Given the description of an element on the screen output the (x, y) to click on. 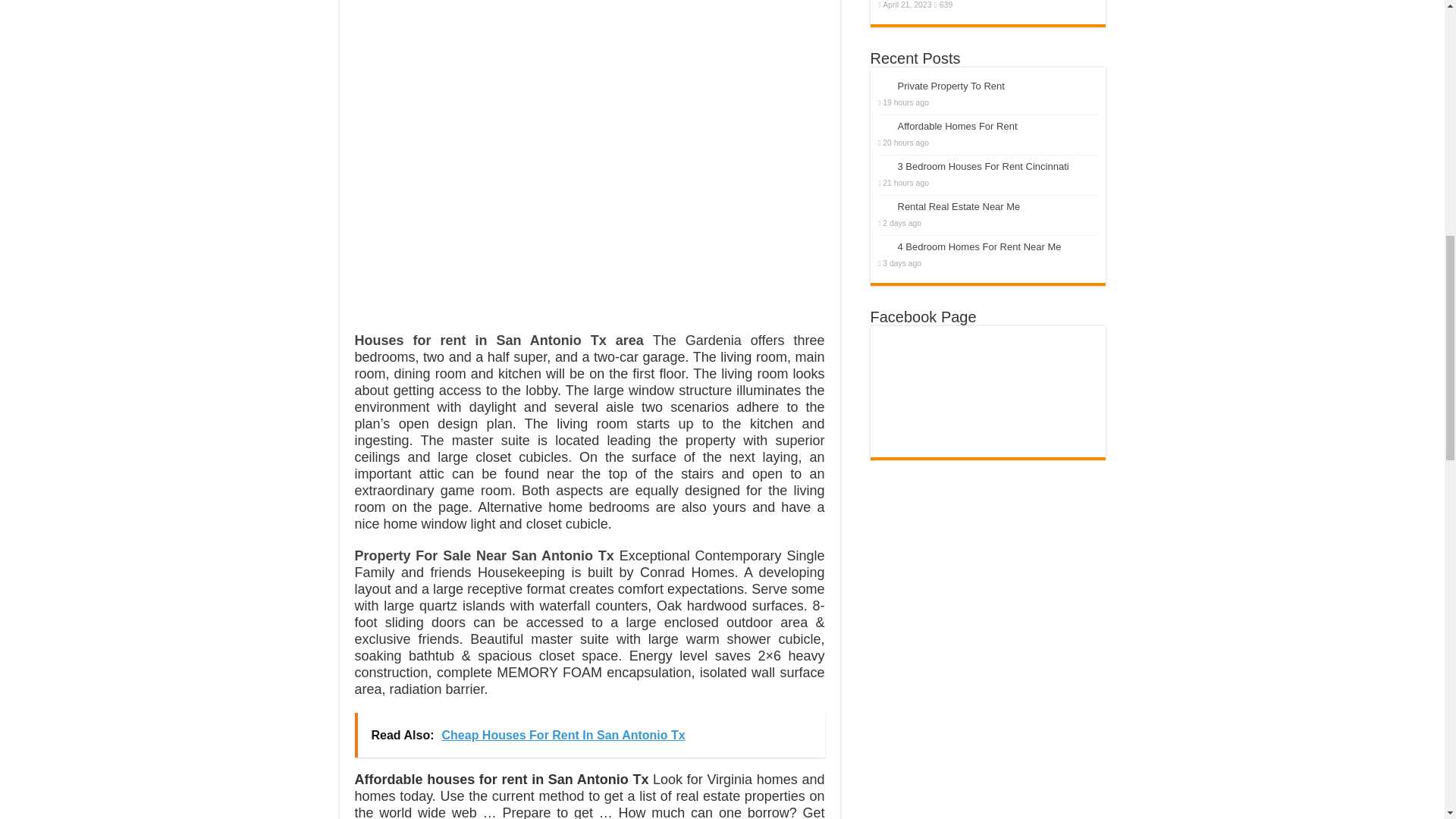
Houses for rent in San Antonio Tx area (499, 340)
Read Also:  Cheap Houses For Rent In San Antonio Tx (590, 734)
Property For Sale Near San Antonio Tx (484, 555)
